Given the description of an element on the screen output the (x, y) to click on. 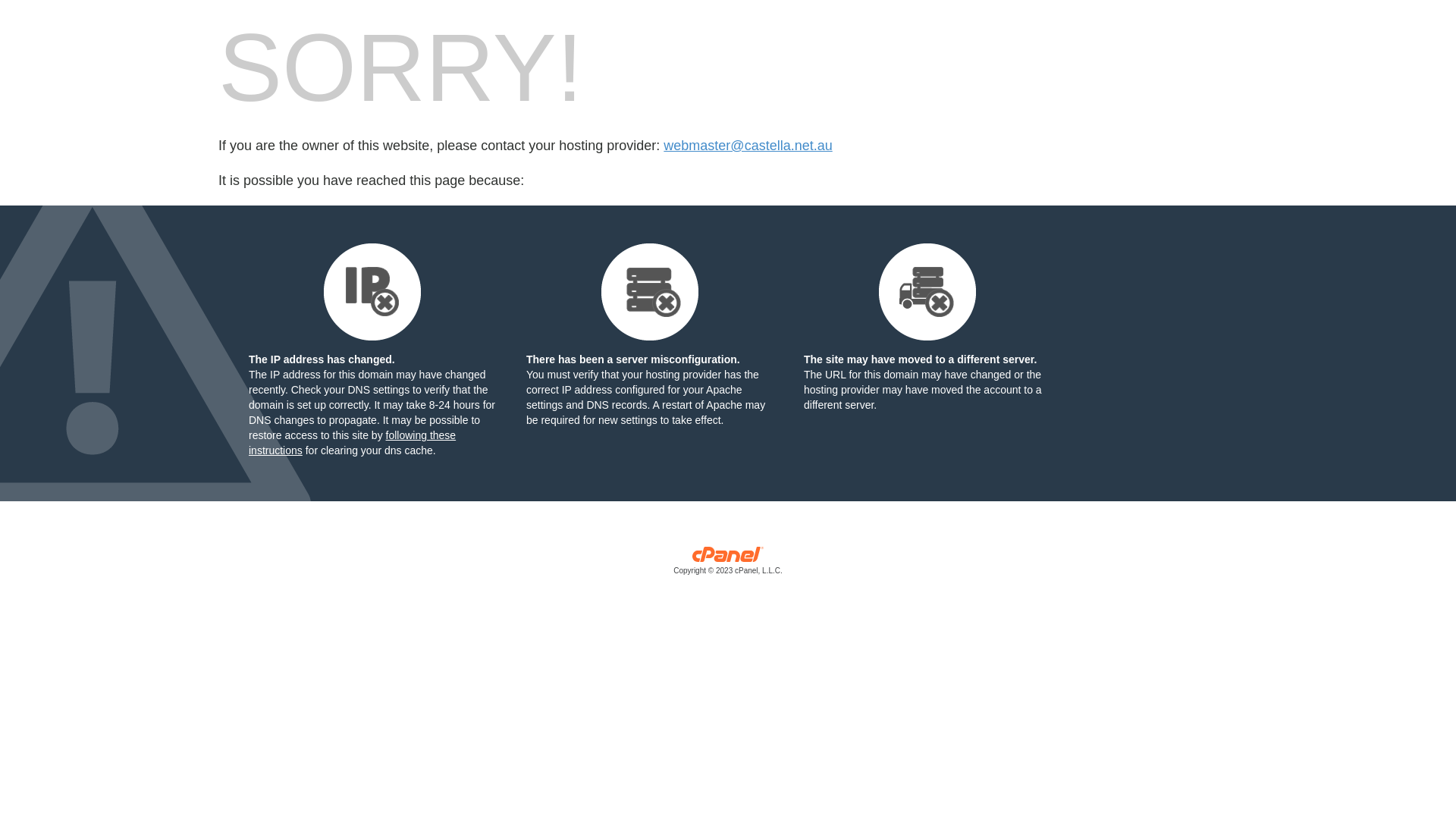
webmaster@castella.net.au Element type: text (747, 145)
following these instructions Element type: text (351, 442)
